Given the description of an element on the screen output the (x, y) to click on. 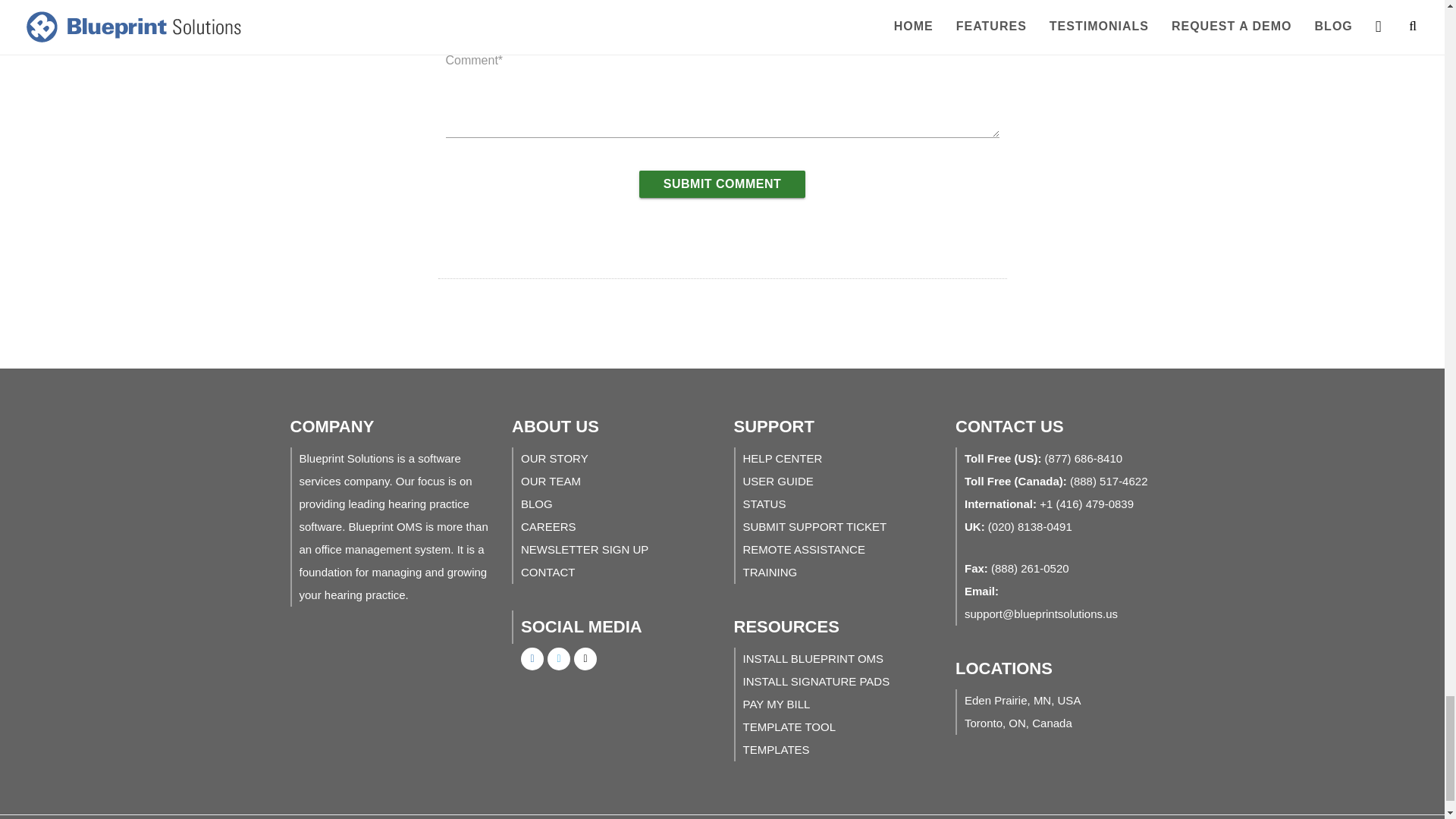
Submit Comment (722, 184)
